Given the description of an element on the screen output the (x, y) to click on. 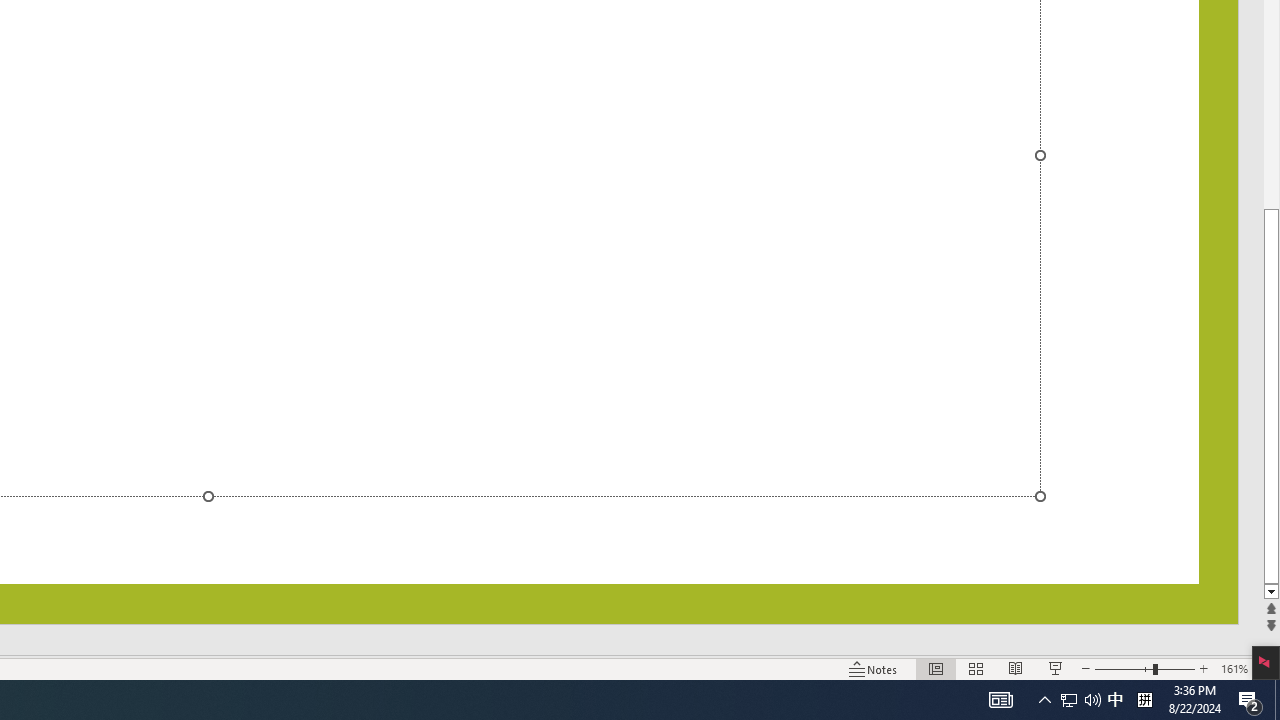
Zoom 161% (1234, 668)
